Given the description of an element on the screen output the (x, y) to click on. 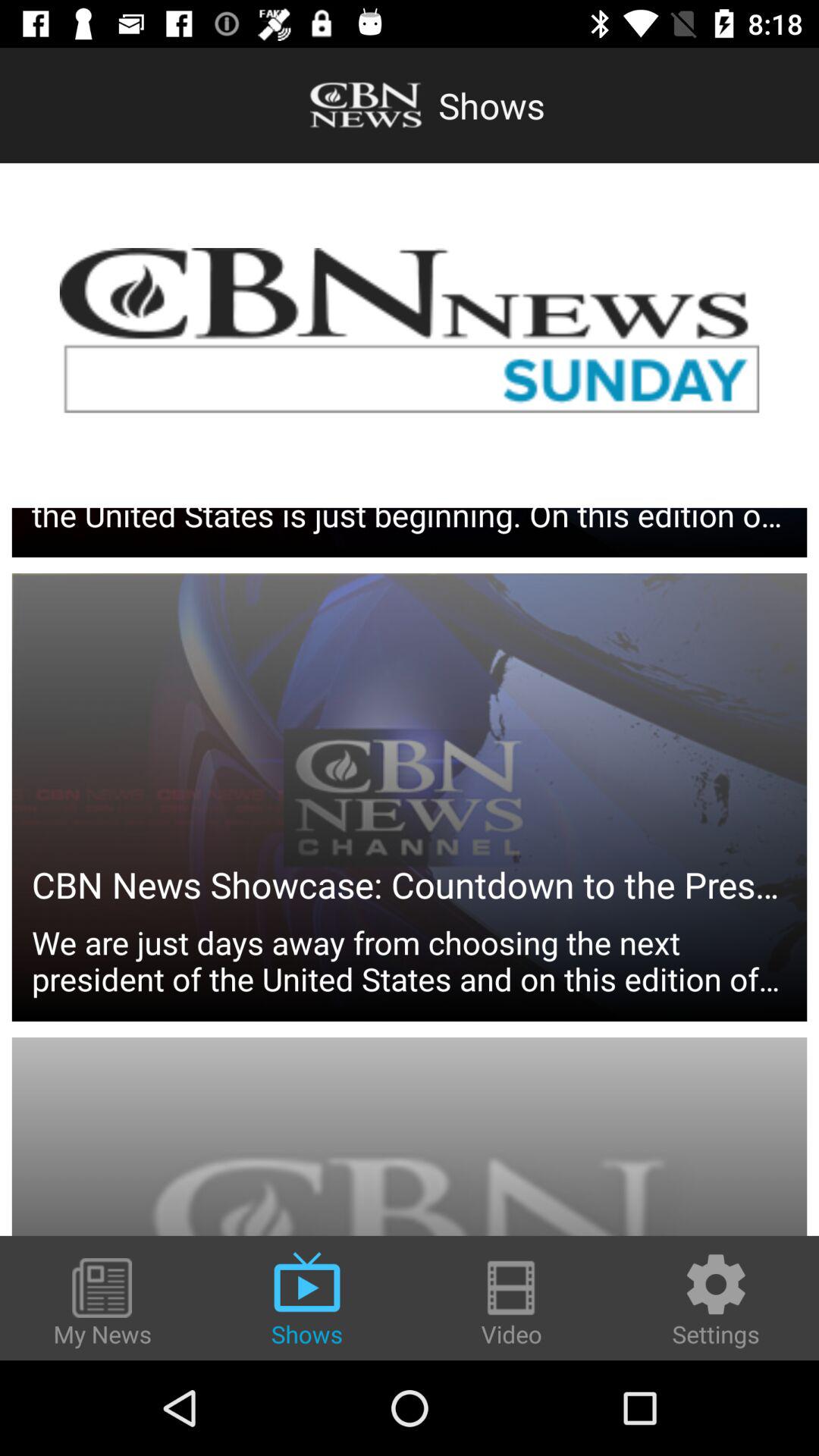
turn off item at the bottom right corner (715, 1299)
